Given the description of an element on the screen output the (x, y) to click on. 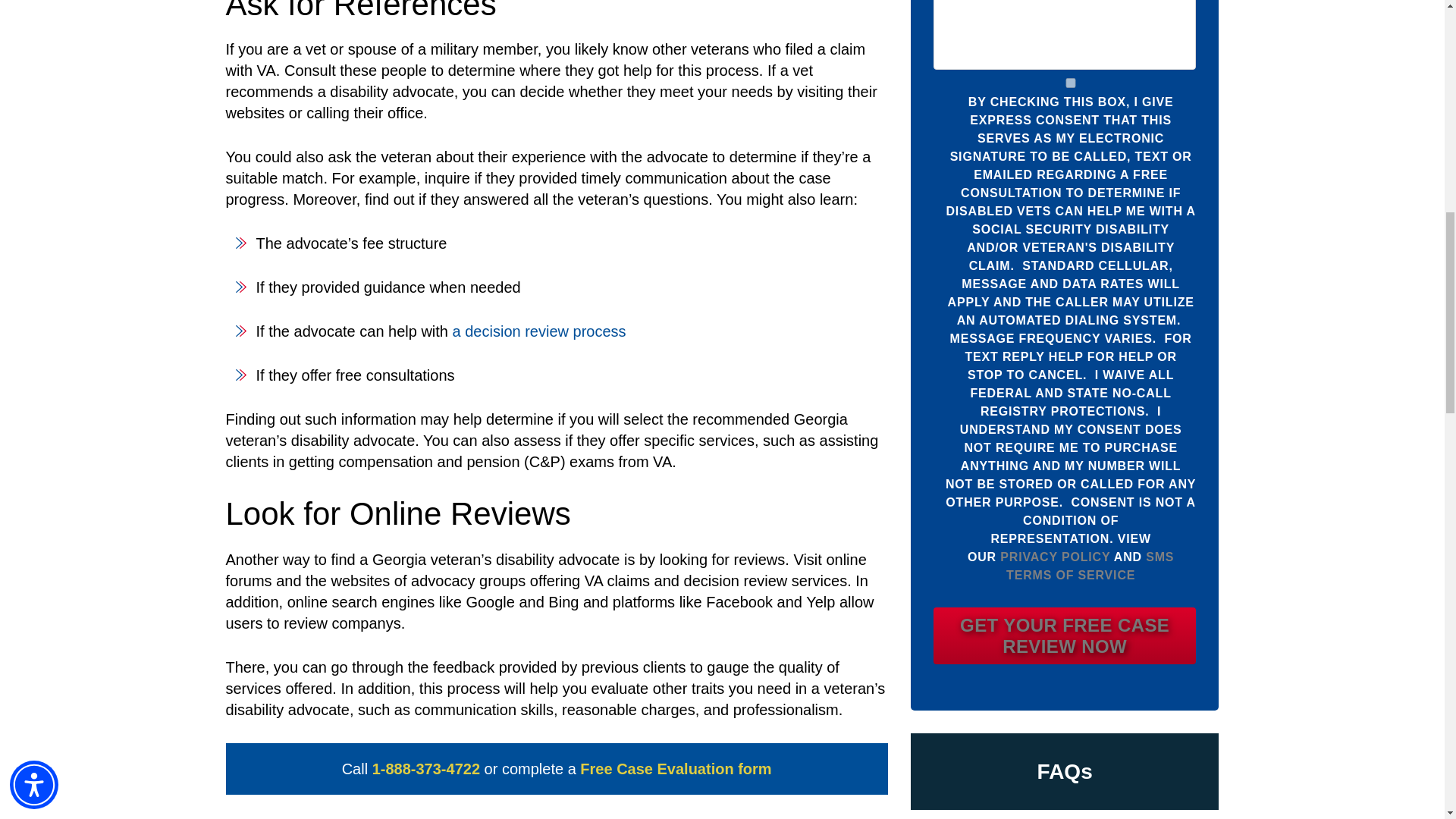
1 (1070, 82)
Get Your Free Case Review Now (1064, 635)
a decision review process (539, 330)
1-888-373-4722 (426, 768)
Are VA Benefits Taxable? (1064, 814)
